Given the description of an element on the screen output the (x, y) to click on. 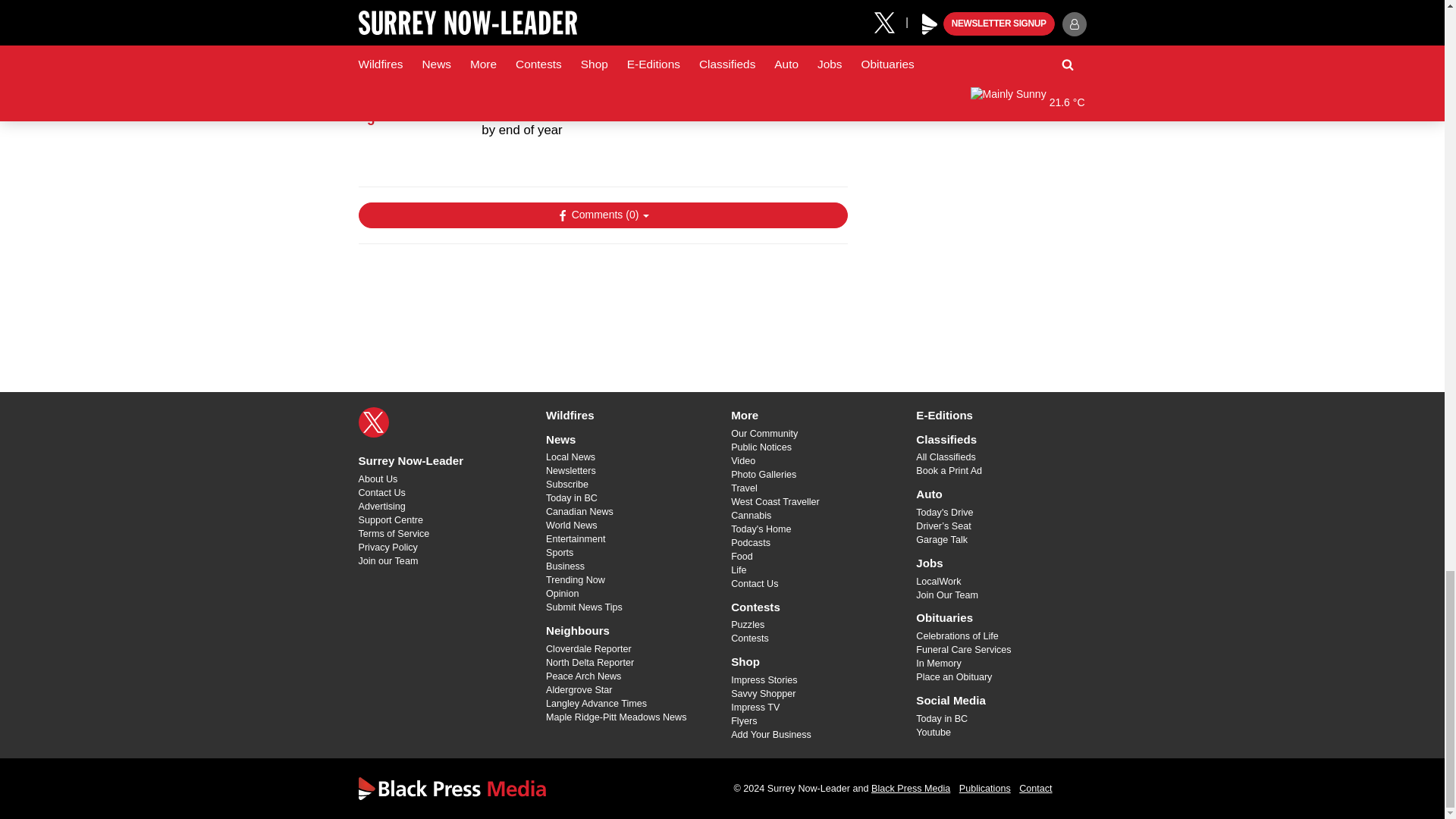
Show Comments (602, 215)
X (373, 422)
